Given the description of an element on the screen output the (x, y) to click on. 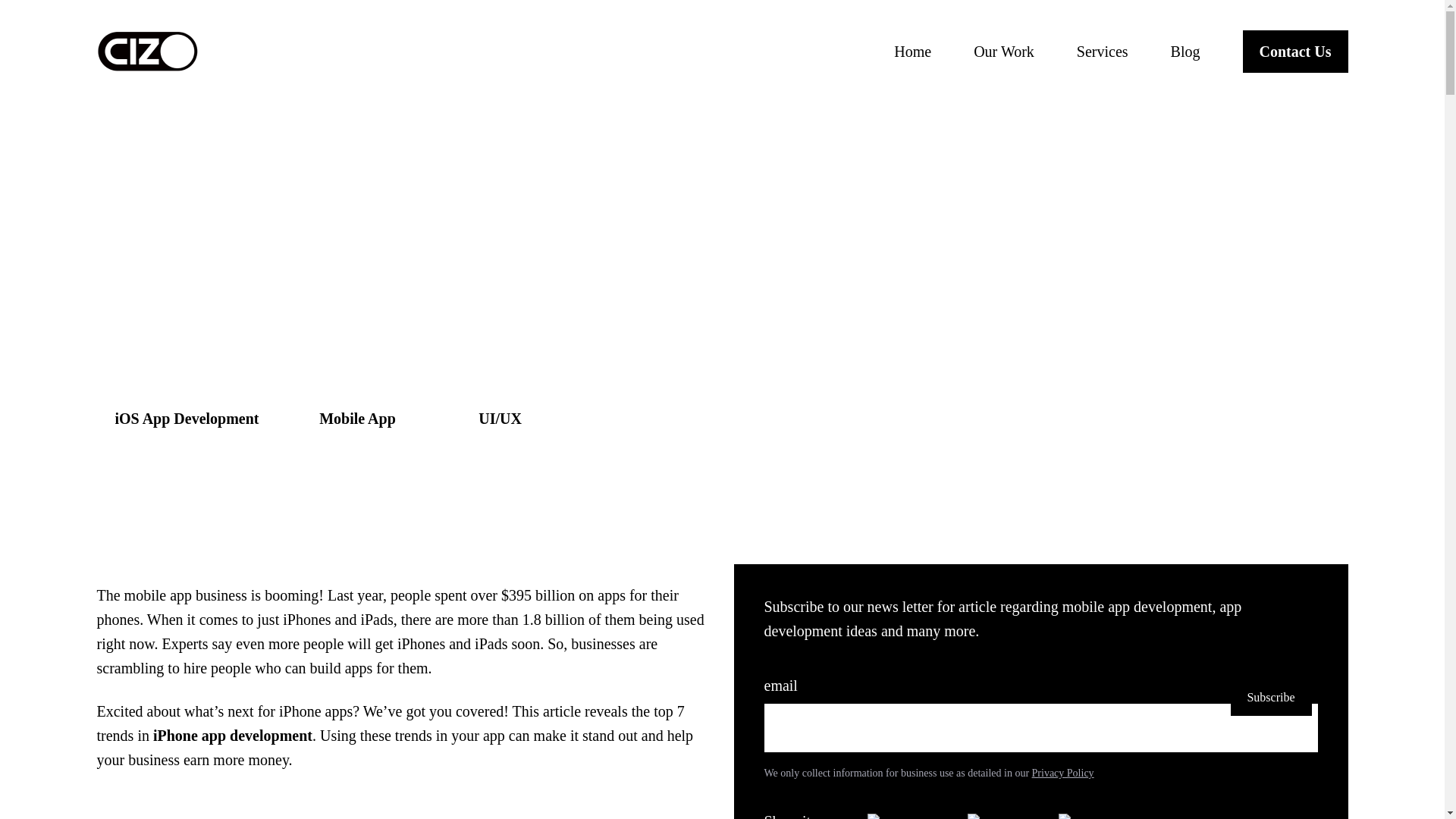
Home (912, 51)
Our Work (1003, 51)
Mobile App (357, 418)
Contact Us (1294, 51)
Subscribe (1270, 697)
Services (1102, 51)
Privacy Policy (1063, 772)
Blog (1184, 51)
iOS App Development (187, 418)
Subscribe (1270, 697)
